Given the description of an element on the screen output the (x, y) to click on. 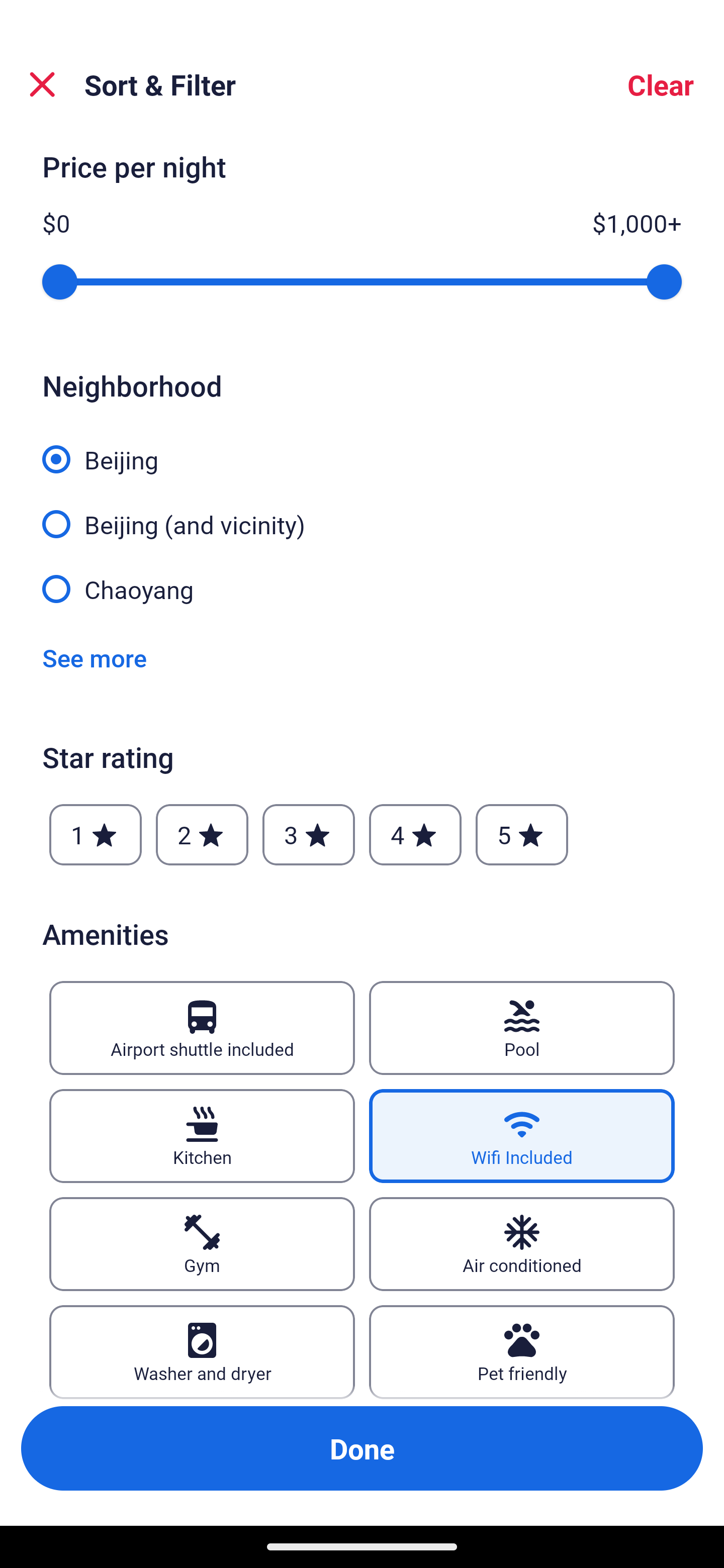
Close Sort and Filter (42, 84)
Clear (660, 84)
Beijing (and vicinity) (361, 513)
Chaoyang (361, 587)
See more See more neighborhoods Link (93, 657)
1 (95, 833)
2 (201, 833)
3 (308, 833)
4 (415, 833)
5 (521, 833)
Airport shuttle included (201, 1028)
Pool (521, 1028)
Kitchen (201, 1135)
Wifi Included (521, 1135)
Gym (201, 1243)
Air conditioned (521, 1243)
Washer and dryer (201, 1351)
Pet friendly (521, 1351)
Apply and close Sort and Filter Done (361, 1448)
